Given the description of an element on the screen output the (x, y) to click on. 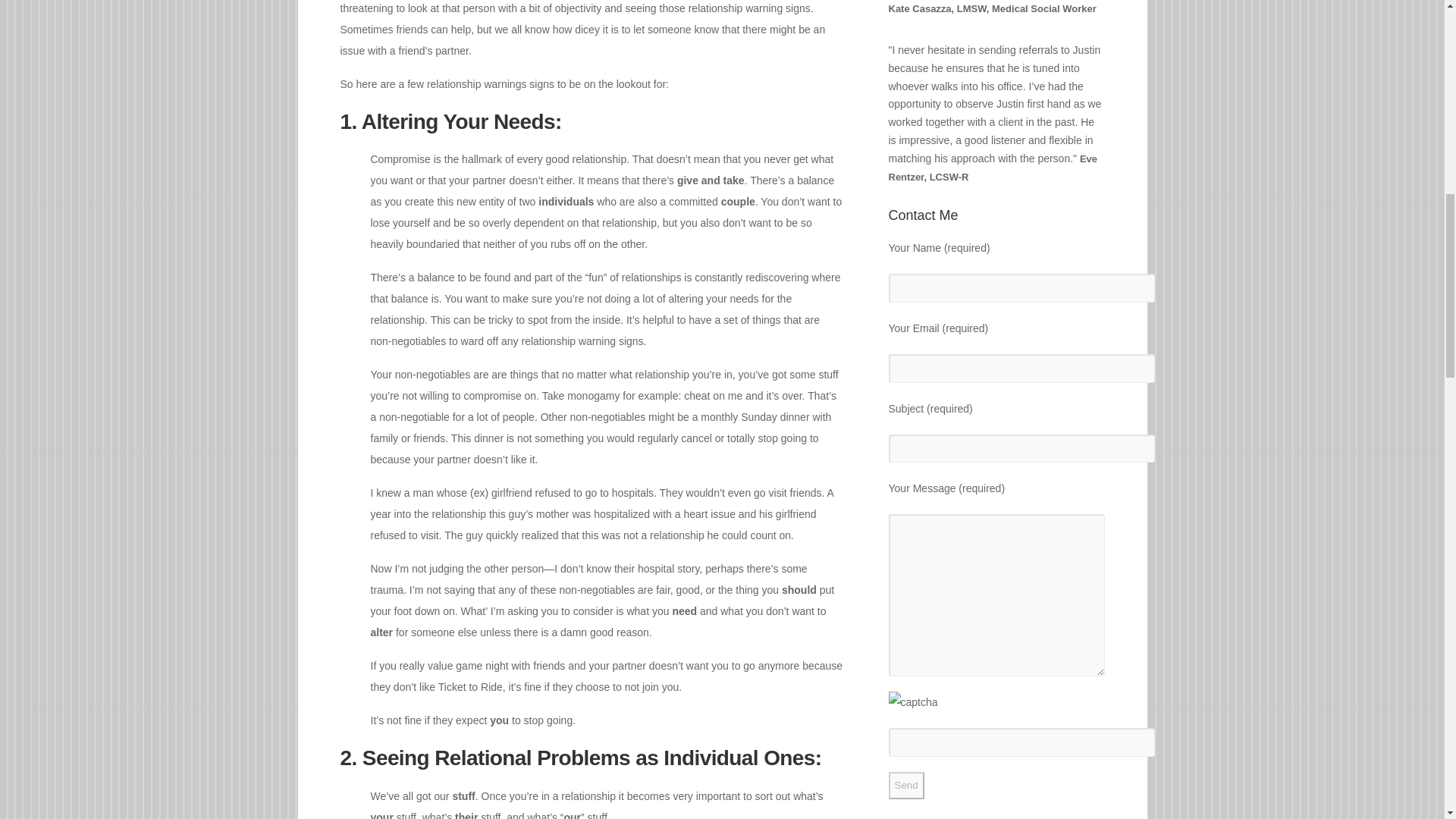
Send (906, 785)
Send (906, 785)
